Given the description of an element on the screen output the (x, y) to click on. 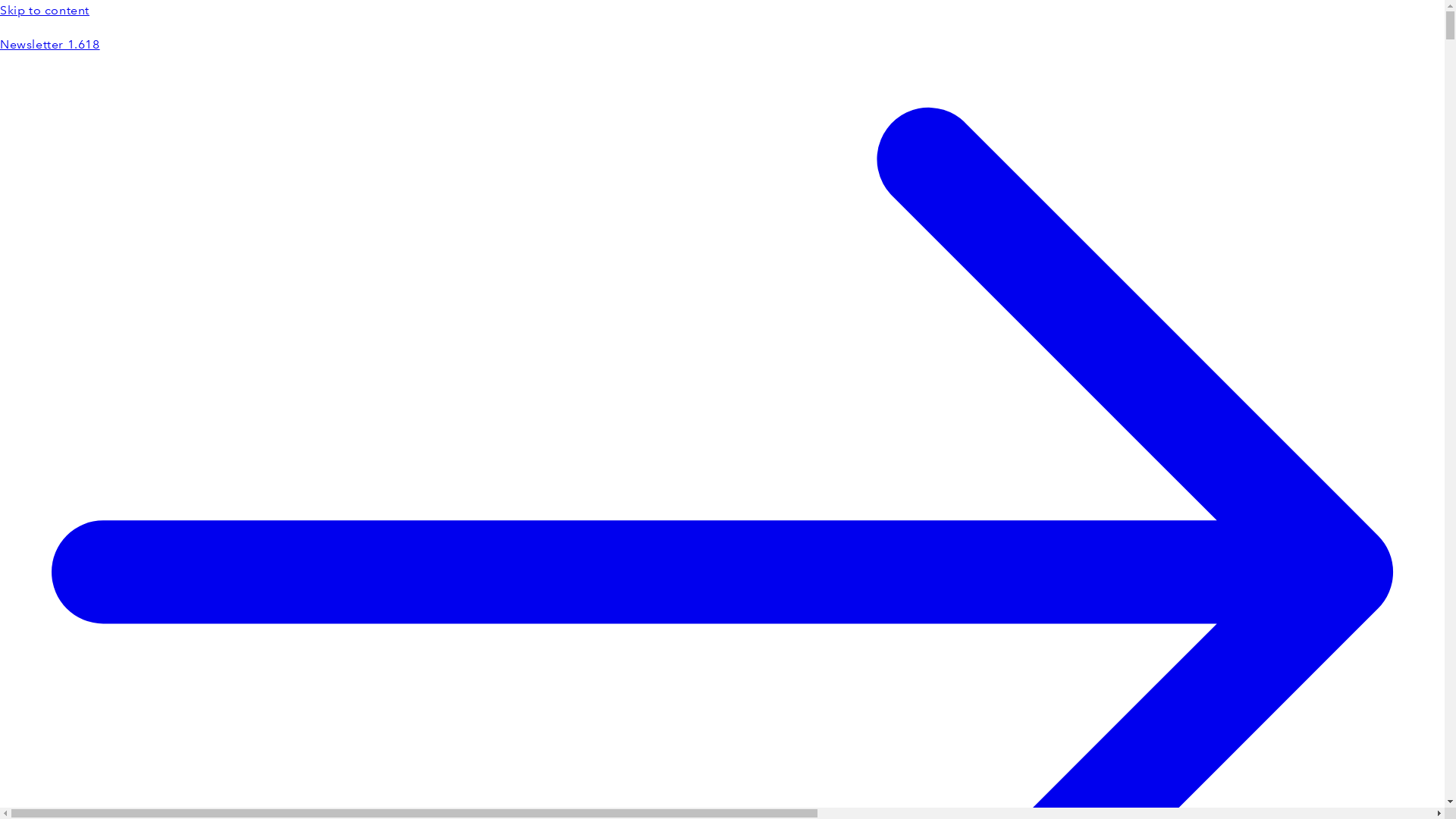
Skip to content Element type: text (722, 10)
